Given the description of an element on the screen output the (x, y) to click on. 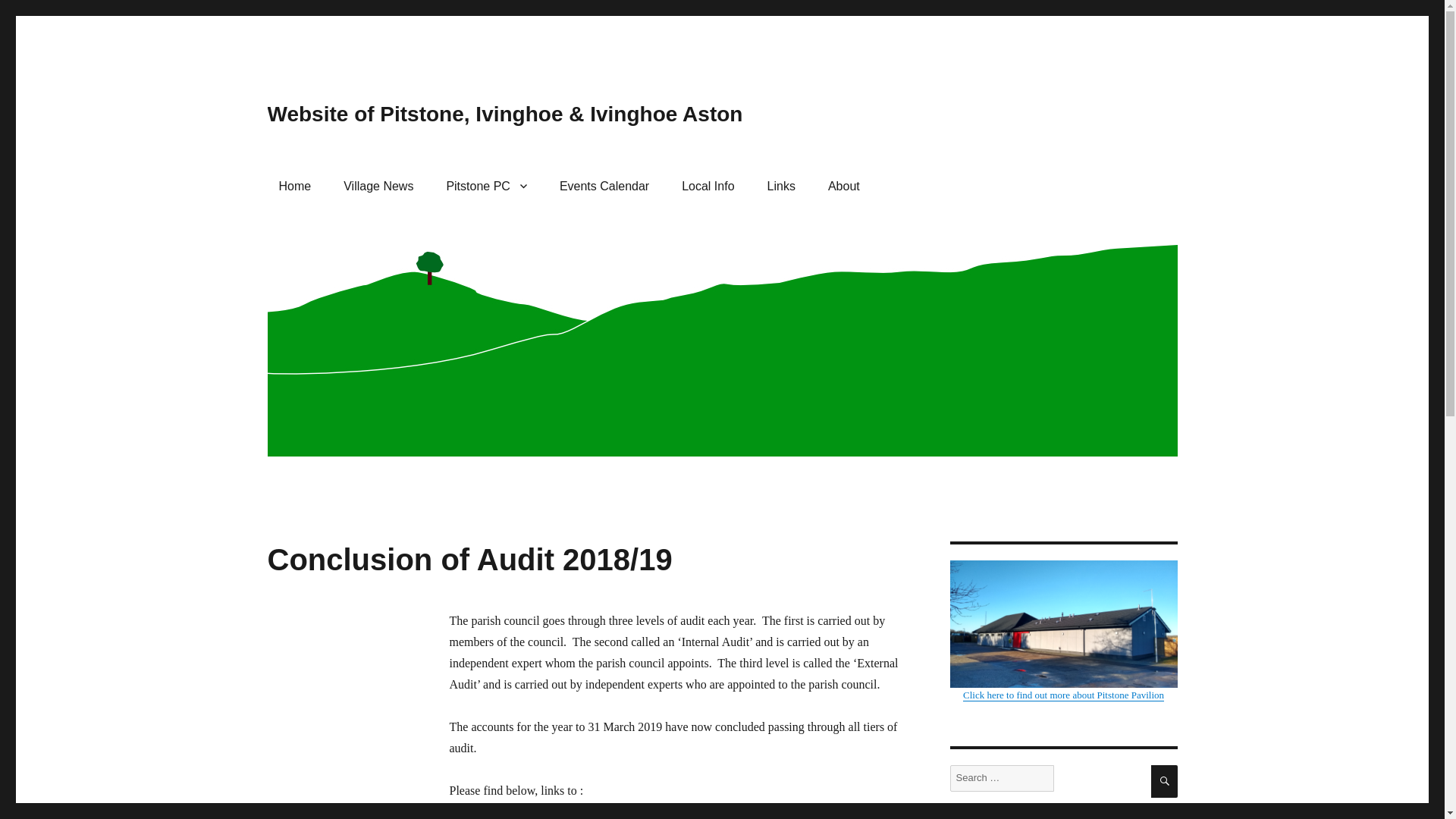
Events Calendar (603, 185)
Links (781, 185)
About (843, 185)
Home (294, 185)
Click here to find out more about Pitstone Pavilion (1062, 630)
Pitstone Parish Council (486, 185)
Village News (378, 185)
Local Info (707, 185)
Pitstone PC (486, 185)
